Given the description of an element on the screen output the (x, y) to click on. 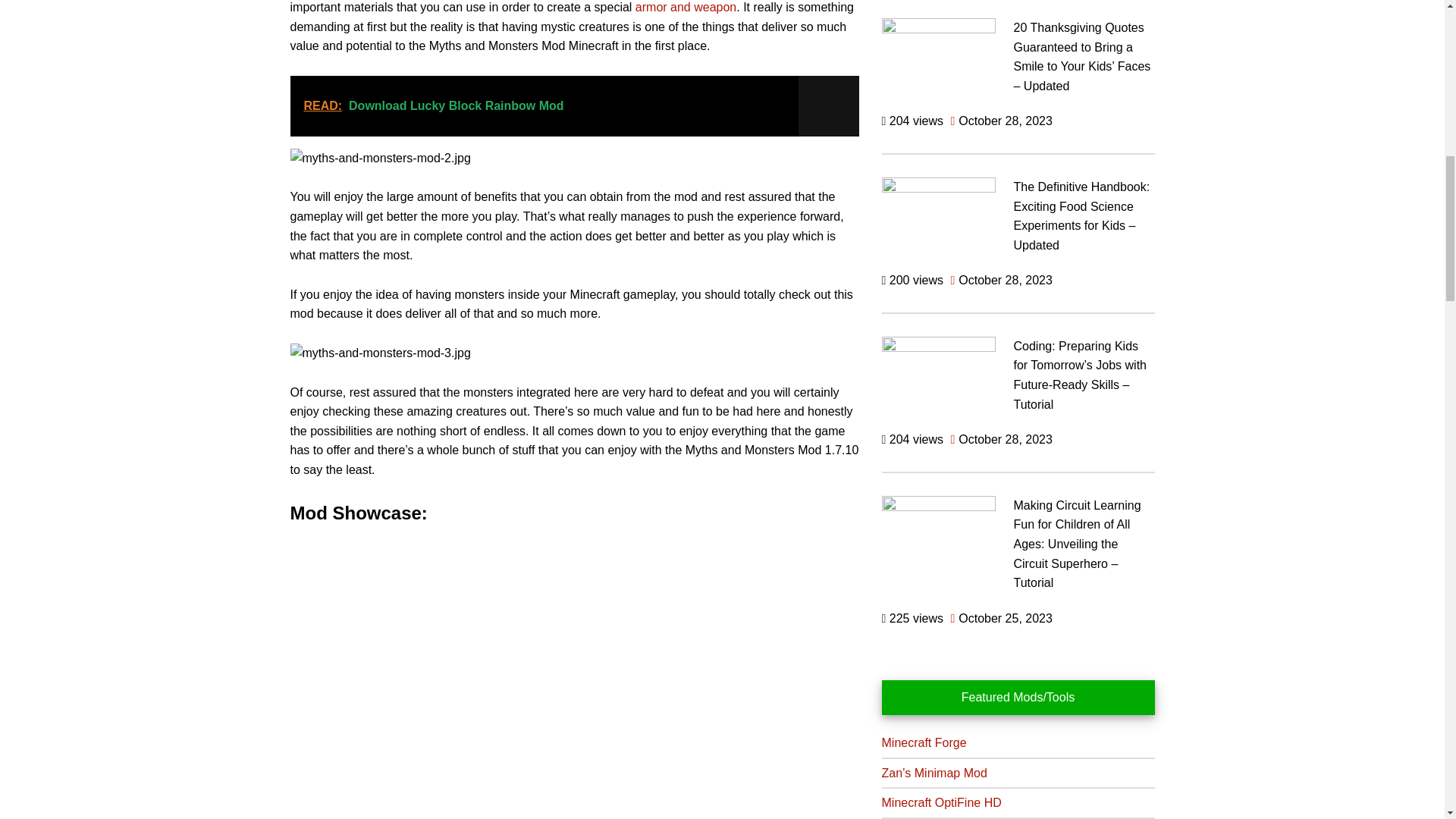
READ:  Download Lucky Block Rainbow Mod (574, 106)
armor and weapon (685, 6)
